Given the description of an element on the screen output the (x, y) to click on. 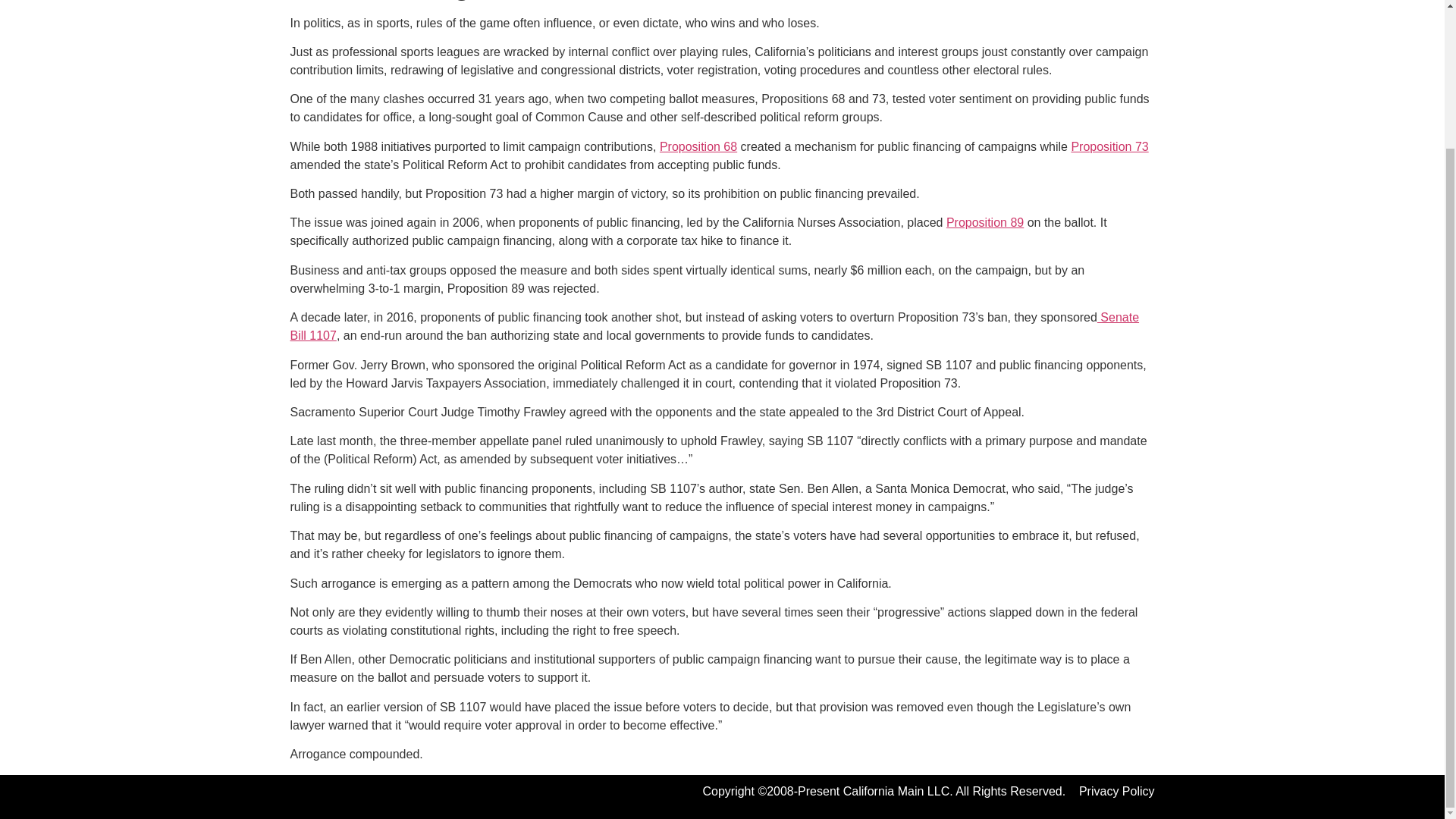
Proposition 68 (697, 146)
Proposition 89 (984, 222)
Proposition 73 (1109, 146)
Senate Bill 1107 (713, 326)
Privacy Policy (1116, 790)
